Given the description of an element on the screen output the (x, y) to click on. 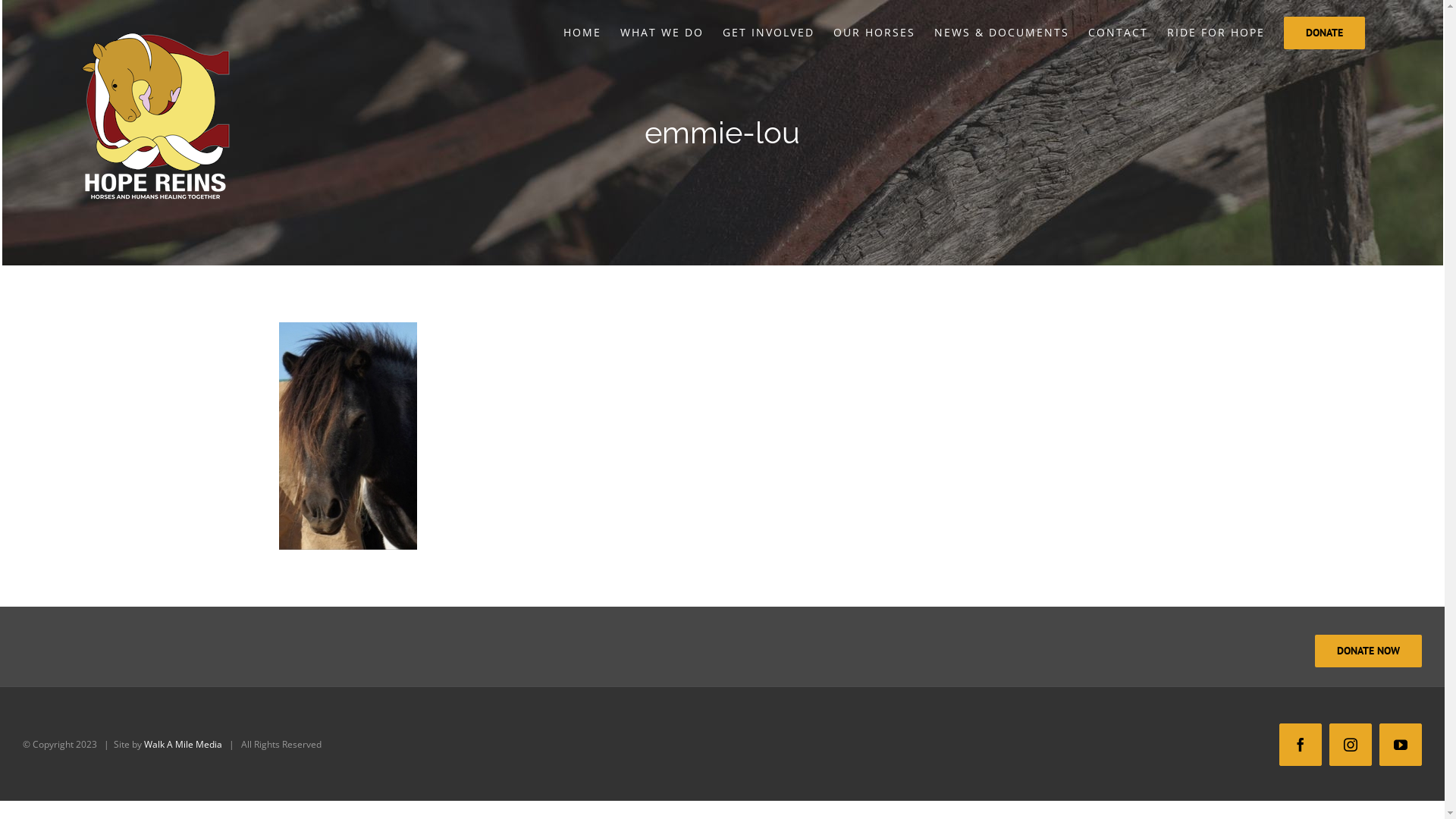
Walk A Mile Media Element type: text (183, 743)
OUR HORSES Element type: text (874, 31)
YouTube Element type: text (1400, 744)
RIDE FOR HOPE Element type: text (1215, 31)
Facebook Element type: text (1300, 744)
HOME Element type: text (582, 31)
DONATE NOW Element type: text (1367, 650)
NEWS & DOCUMENTS Element type: text (1001, 31)
Instagram Element type: text (1350, 744)
DONATE Element type: text (1324, 31)
WHAT WE DO Element type: text (661, 31)
CONTACT Element type: text (1118, 31)
GET INVOLVED Element type: text (768, 31)
